Given the description of an element on the screen output the (x, y) to click on. 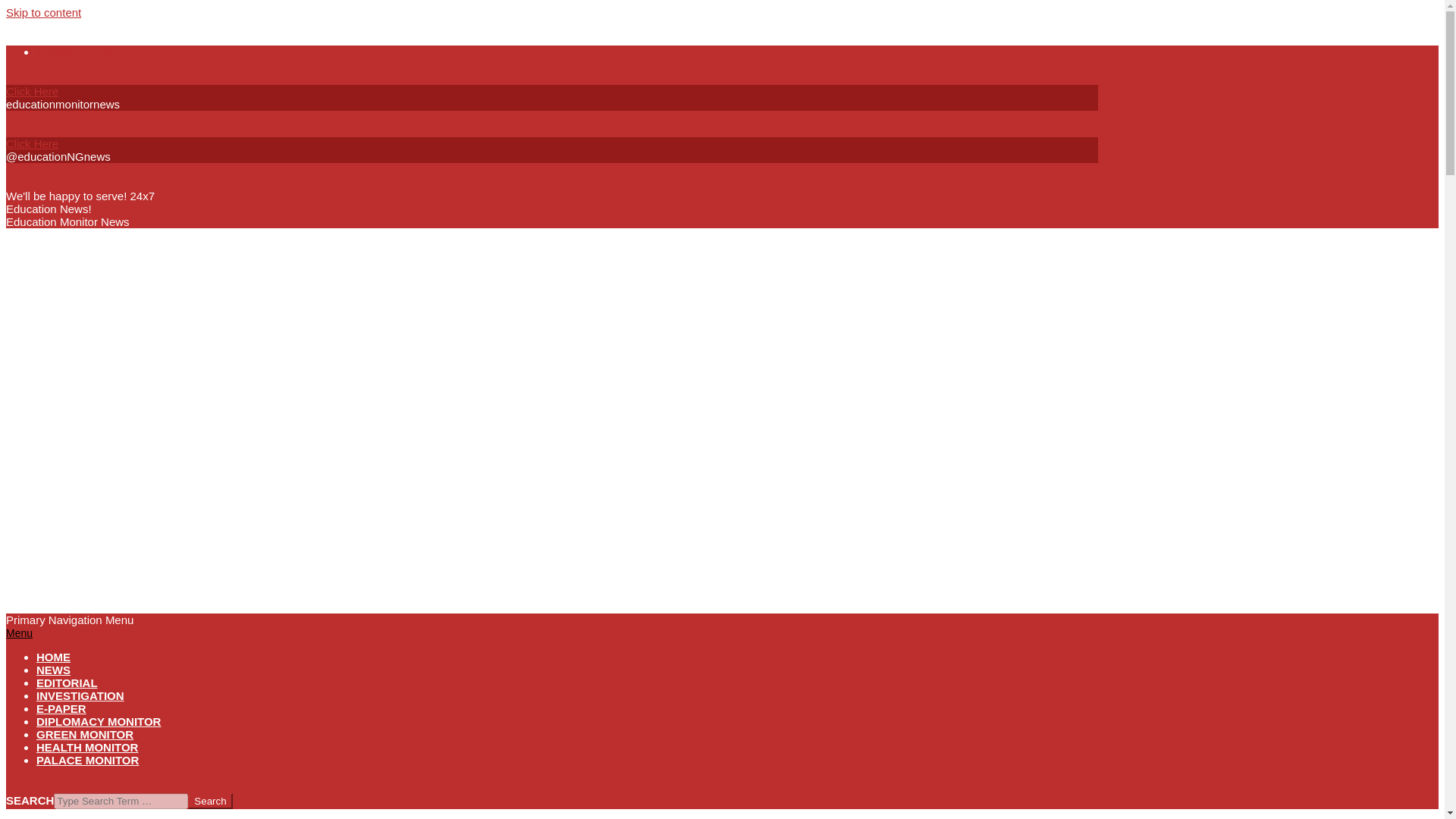
E-PAPER (60, 707)
INVESTIGATION (79, 695)
Click Here (31, 143)
Skip to content (43, 11)
PALACE MONITOR (87, 759)
HOME (52, 656)
DIPLOMACY MONITOR (98, 721)
NEWSLETTER (75, 51)
EDITORIAL (66, 682)
Menu (18, 633)
Search (209, 801)
GREEN MONITOR (84, 734)
HEALTH MONITOR (87, 747)
Click Here (31, 91)
